Given the description of an element on the screen output the (x, y) to click on. 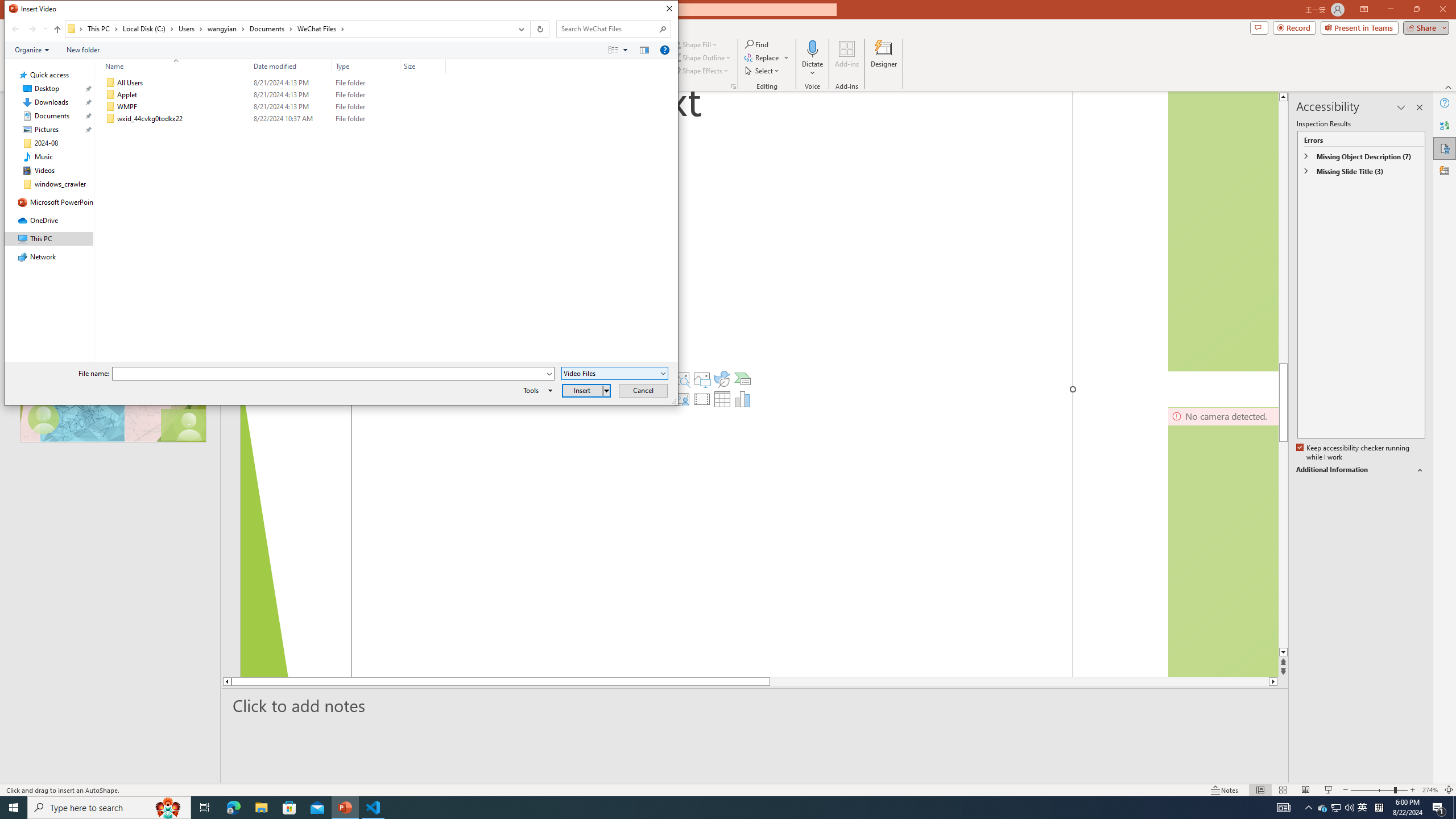
Name (173, 65)
IME Mode Icon - IME is disabled (1362, 807)
Name (183, 119)
Recent locations (44, 28)
Type (365, 119)
